Given the description of an element on the screen output the (x, y) to click on. 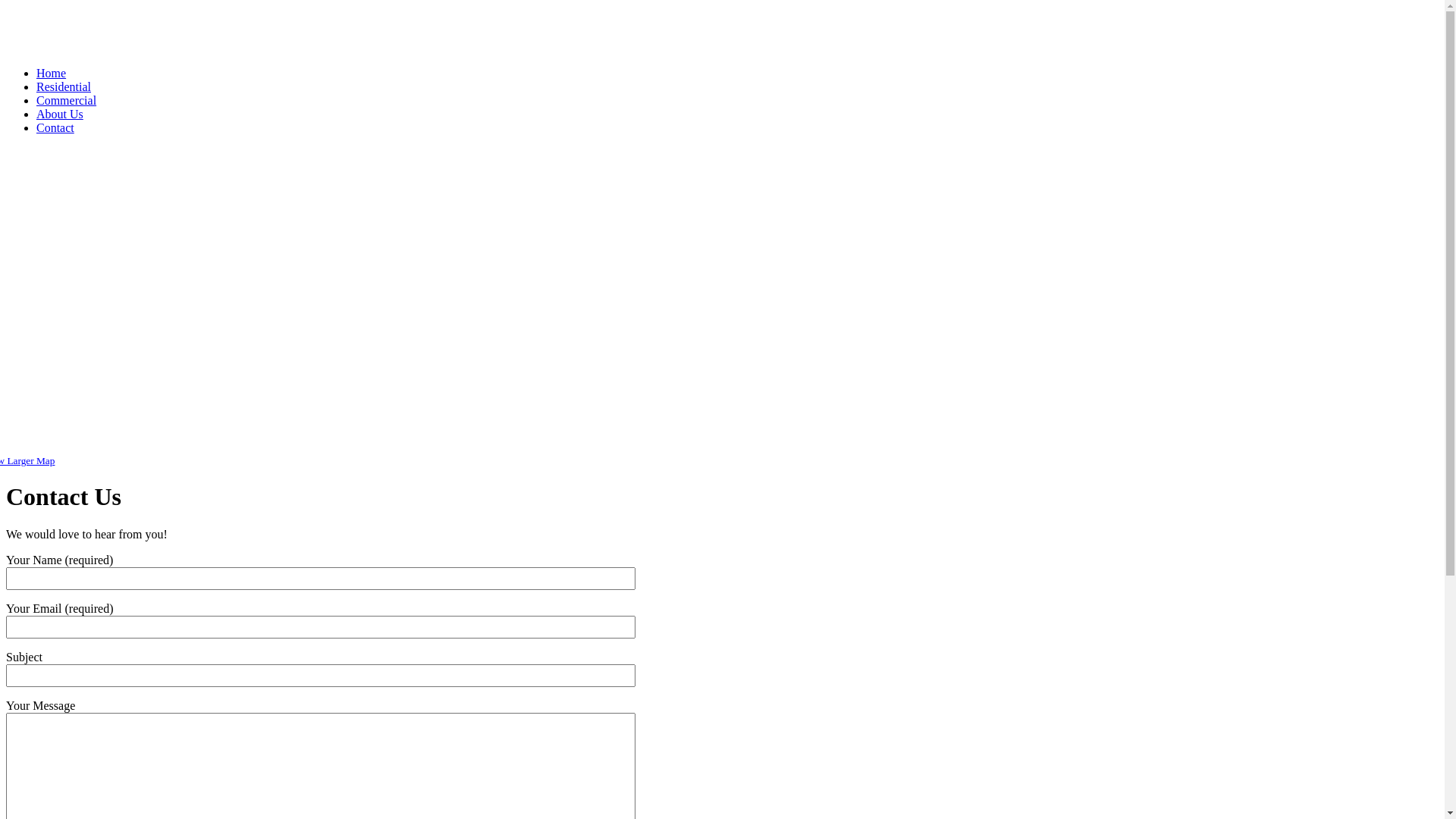
About Us Element type: text (59, 113)
Contact Element type: text (55, 127)
Home Element type: text (50, 72)
Residential Element type: text (63, 86)
Commercial Element type: text (66, 100)
